Given the description of an element on the screen output the (x, y) to click on. 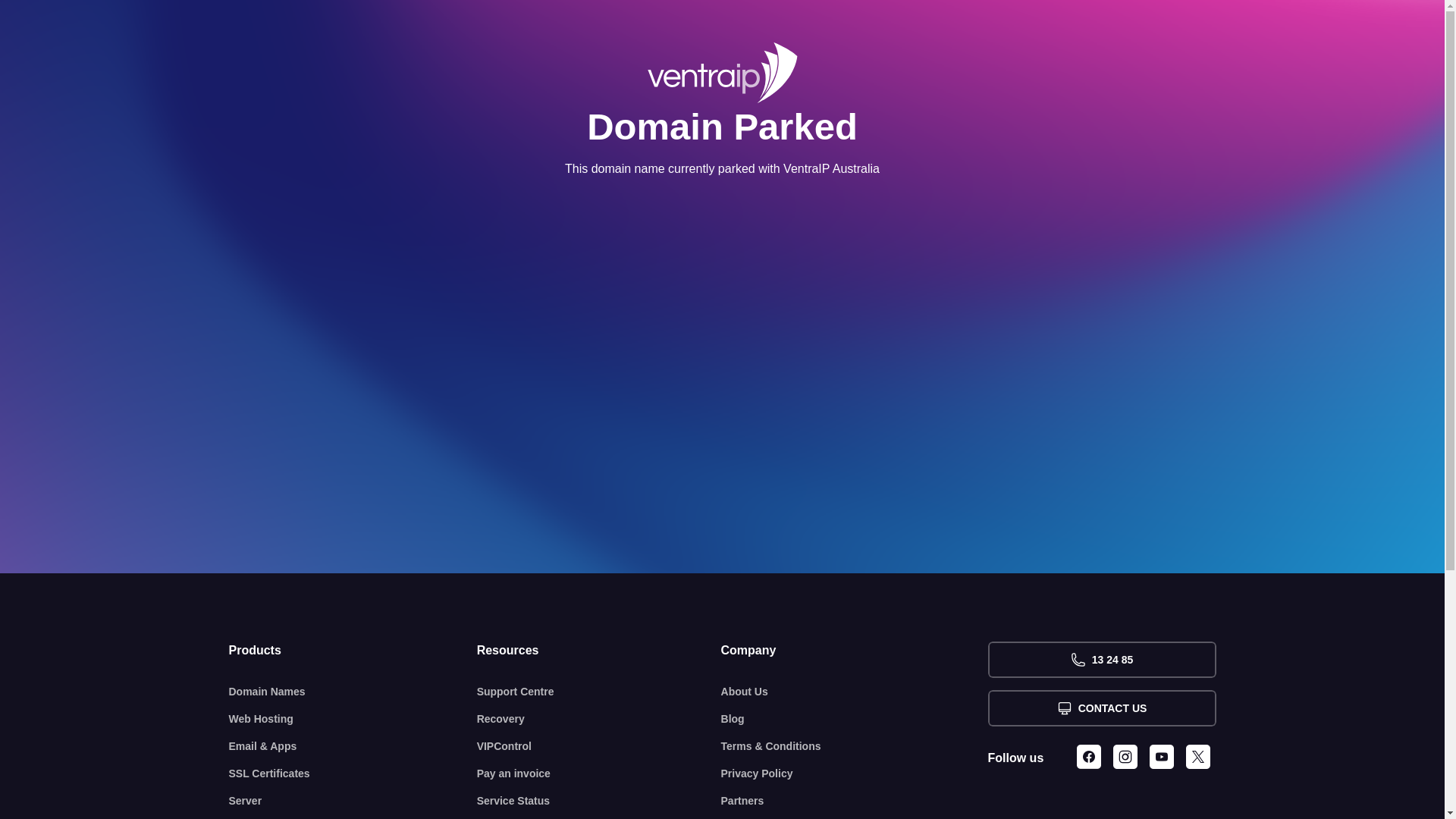
Email & Apps Element type: text (352, 745)
About Us Element type: text (854, 691)
Support Centre Element type: text (598, 691)
Partners Element type: text (854, 800)
SSL Certificates Element type: text (352, 773)
Service Status Element type: text (598, 800)
Pay an invoice Element type: text (598, 773)
13 24 85 Element type: text (1101, 659)
Web Hosting Element type: text (352, 718)
Domain Names Element type: text (352, 691)
Blog Element type: text (854, 718)
CONTACT US Element type: text (1101, 708)
Terms & Conditions Element type: text (854, 745)
Recovery Element type: text (598, 718)
Privacy Policy Element type: text (854, 773)
VIPControl Element type: text (598, 745)
Server Element type: text (352, 800)
